Given the description of an element on the screen output the (x, y) to click on. 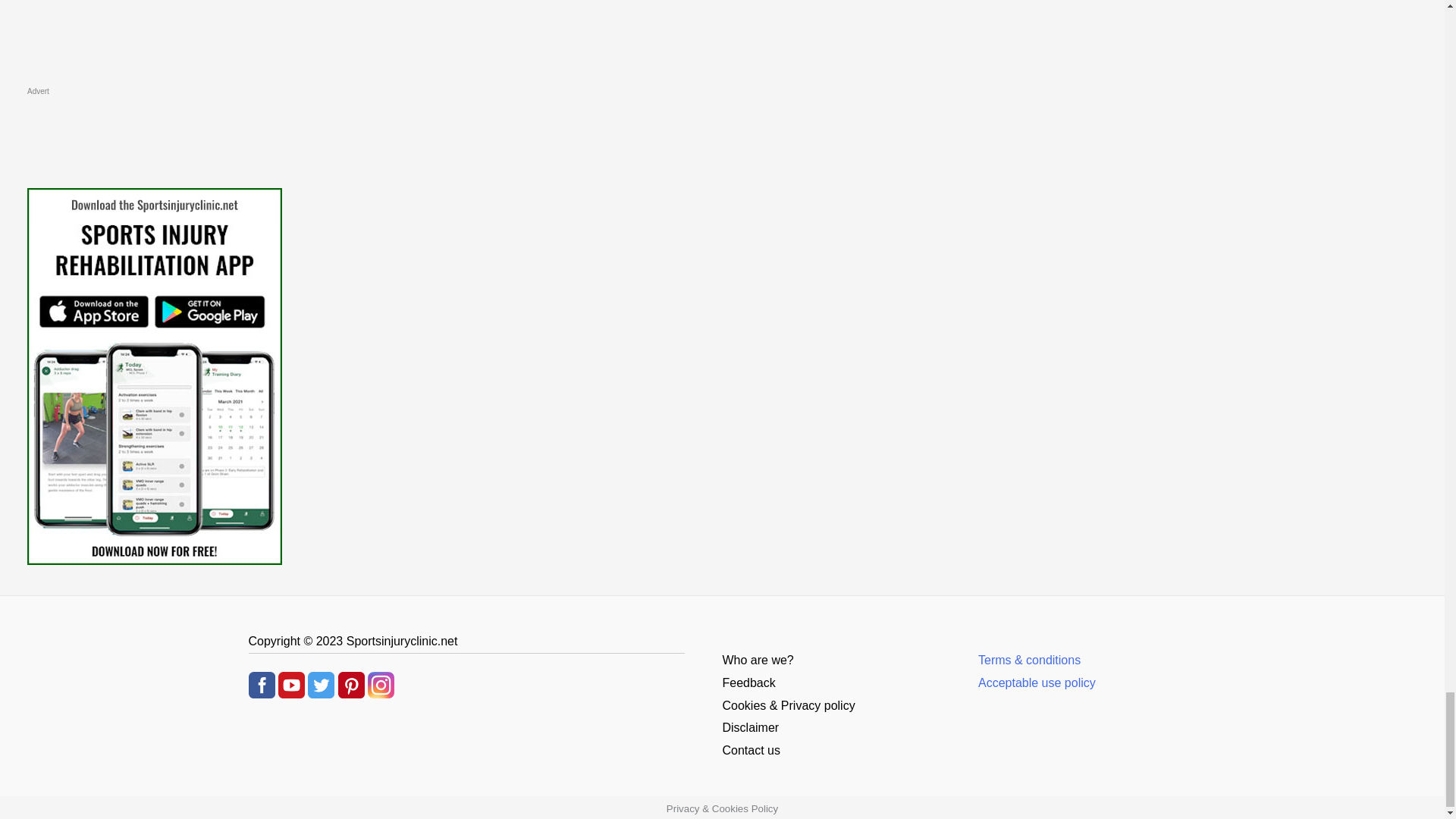
Instagram (381, 684)
Youtubbe (291, 684)
Pinterest (351, 684)
Twitter (320, 684)
Facebook (261, 684)
